Given the description of an element on the screen output the (x, y) to click on. 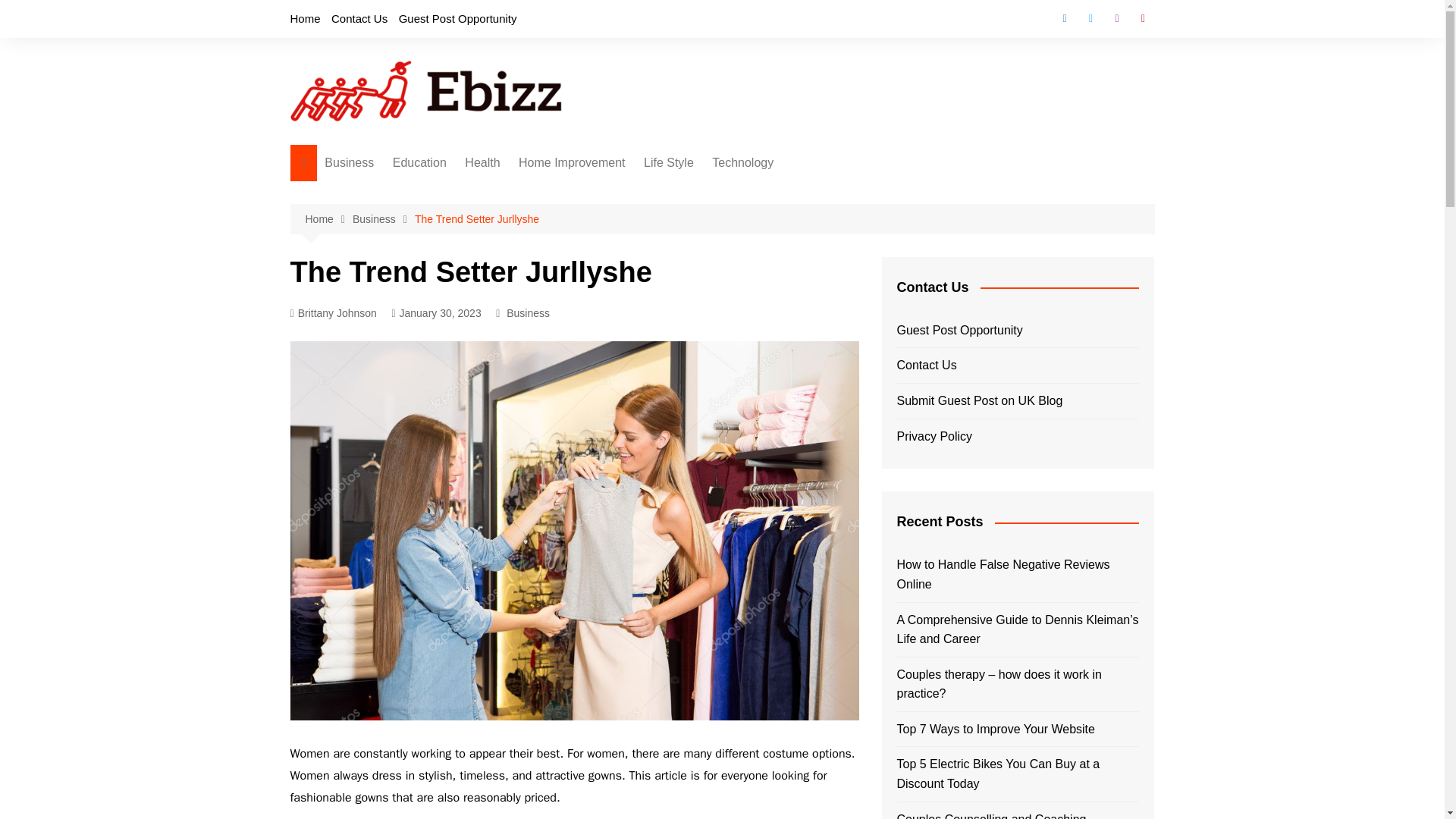
beauty (540, 193)
Business (349, 162)
Social Media (400, 368)
CBD (540, 243)
SEO (400, 343)
Horoscope (540, 293)
Dining (594, 243)
Service (400, 393)
Life Style (668, 162)
News (400, 318)
Dental (540, 218)
Printing (594, 218)
Pest Control (594, 293)
Travel (719, 243)
Vimeo (1142, 18)
